Given the description of an element on the screen output the (x, y) to click on. 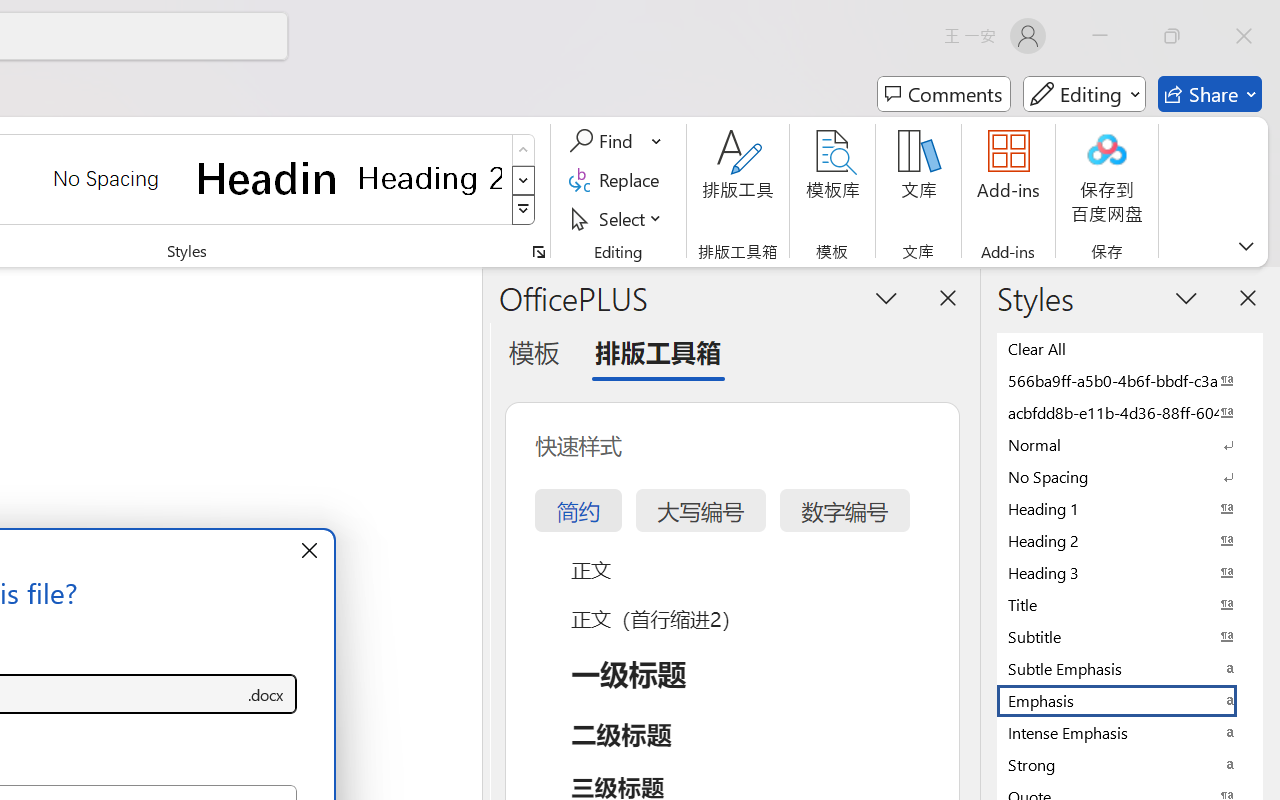
Styles... (538, 252)
Normal (1130, 444)
Heading 2 (429, 178)
Class: NetUIImage (523, 210)
Heading 1 (267, 178)
Close (1244, 36)
Subtitle (1130, 636)
Save as type (265, 694)
Replace... (617, 179)
